Given the description of an element on the screen output the (x, y) to click on. 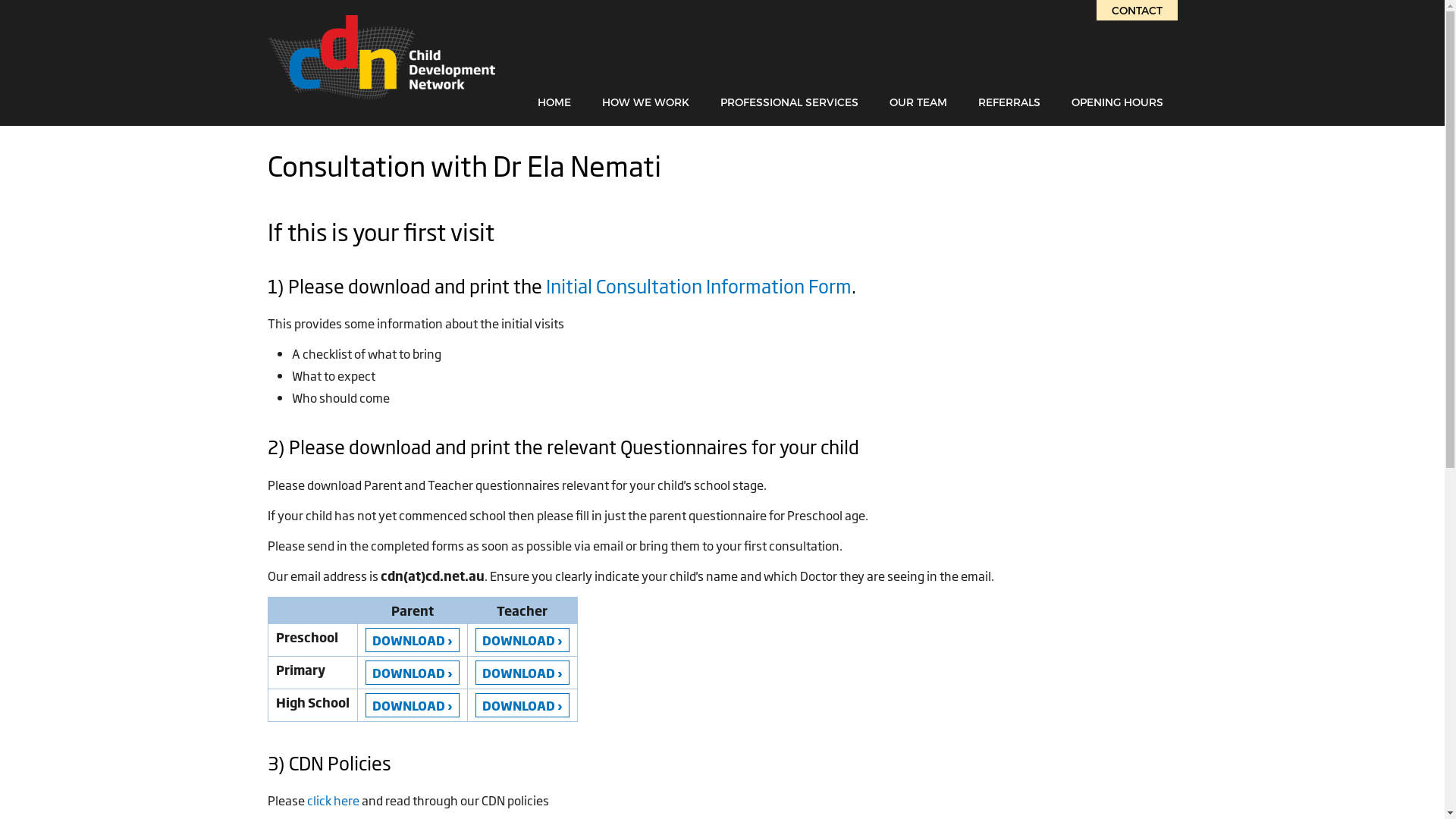
Initial Consultation Information Form Element type: text (698, 284)
HOME Element type: text (553, 101)
OUR TEAM Element type: text (917, 101)
REFERRALS Element type: text (1009, 101)
CONTACT Element type: text (1136, 10)
OPENING HOURS Element type: text (1116, 101)
click here Element type: text (332, 799)
HOW WE WORK Element type: text (645, 101)
PROFESSIONAL SERVICES Element type: text (789, 101)
